Given the description of an element on the screen output the (x, y) to click on. 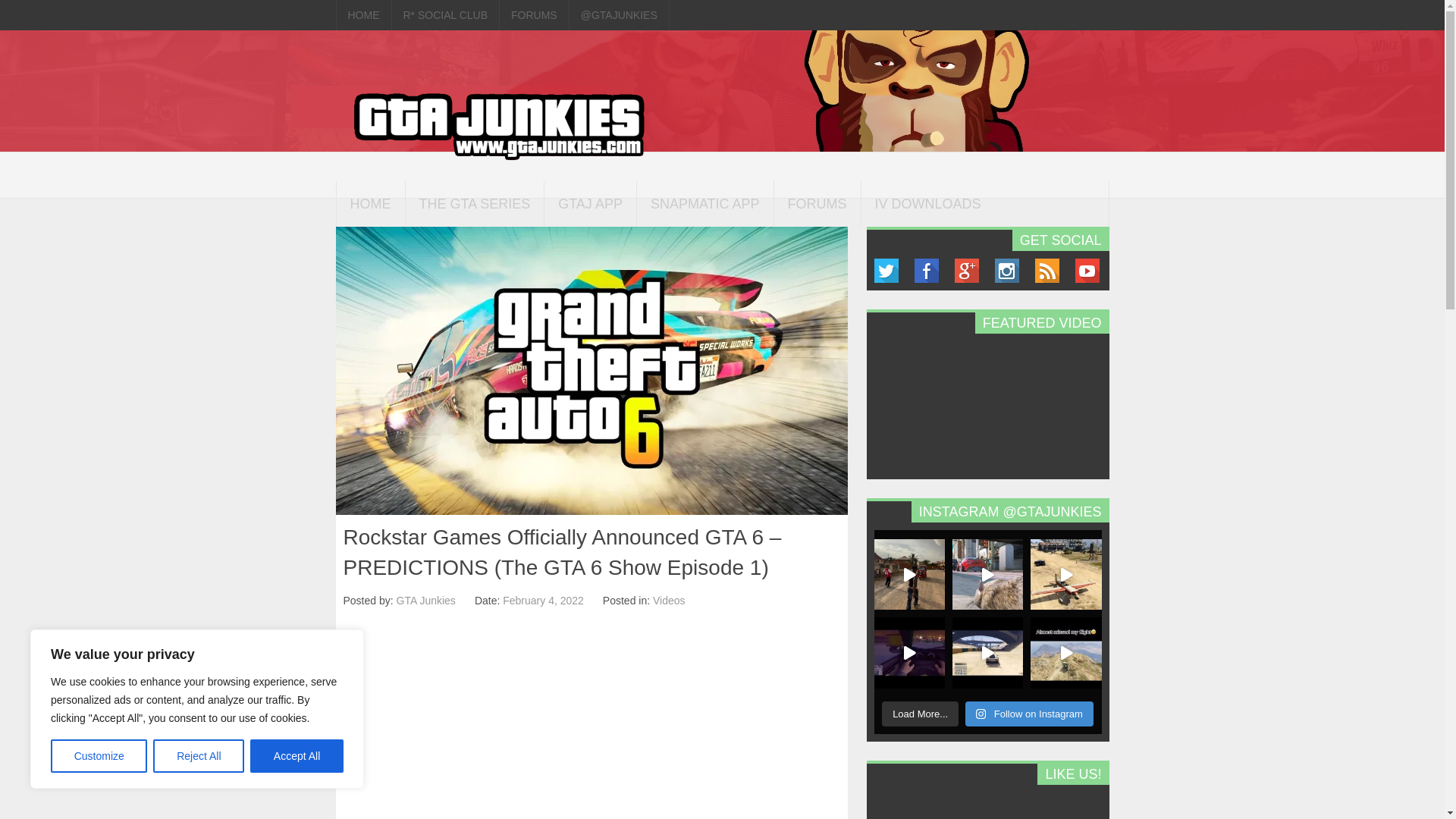
GTAJ APP (590, 202)
FORUMS (817, 202)
Customize (98, 756)
SNAPMATIC APP (705, 202)
Posts by GTA Junkies (425, 600)
FORUMS (534, 15)
Accept All (296, 756)
GTA Junkies (425, 600)
THE GTA SERIES (473, 202)
IV DOWNLOADS (927, 202)
Reject All (198, 756)
HOME (362, 15)
Videos (668, 600)
HOME (370, 202)
V DOWNLOADS (400, 248)
